Given the description of an element on the screen output the (x, y) to click on. 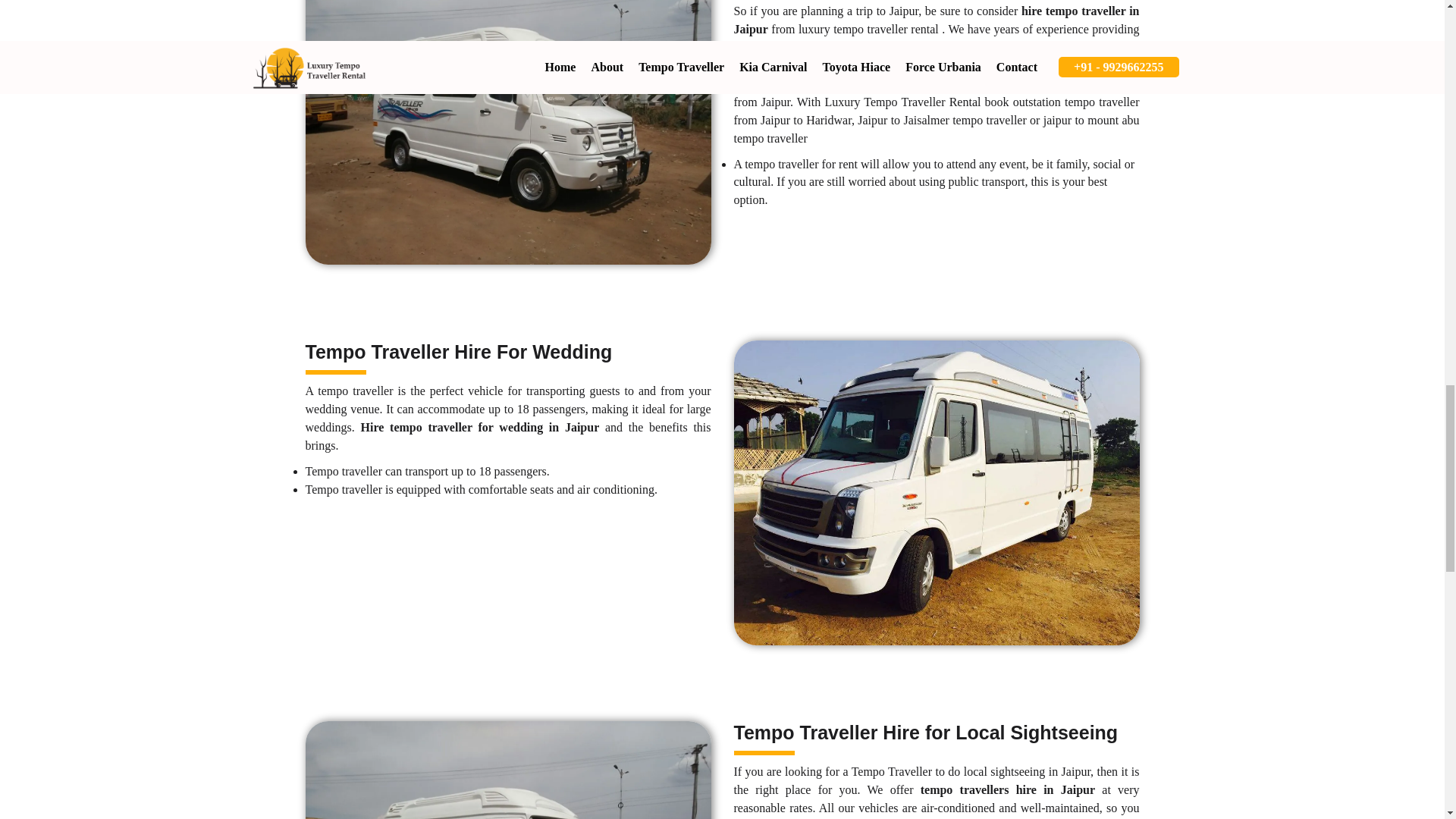
hire tempo traveller in Jaipur (936, 20)
